Given the description of an element on the screen output the (x, y) to click on. 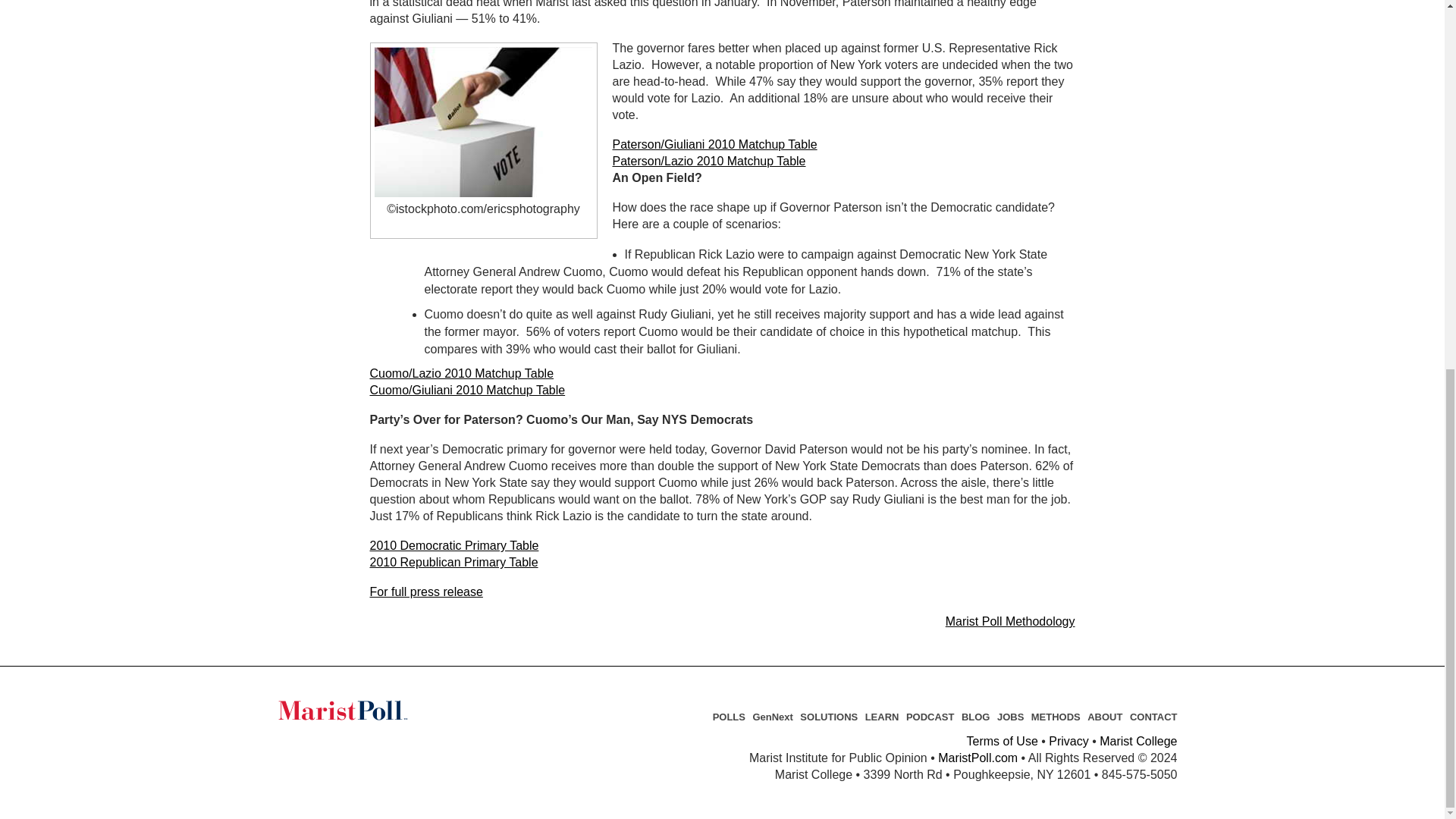
For full press release (426, 591)
METHODS (1055, 716)
Terms of Use (1002, 740)
2010 Democratic Primary Table (453, 545)
2010 Republican Primary Table (453, 562)
BLOG (975, 716)
JOBS (1010, 716)
Home of the Marist Poll (372, 710)
GenNext (772, 716)
SOLUTIONS (828, 716)
CONTACT (1153, 716)
Home of the Marist Poll (372, 710)
ABOUT (1104, 716)
Marist Poll Methodology (1009, 621)
POLLS (729, 716)
